Given the description of an element on the screen output the (x, y) to click on. 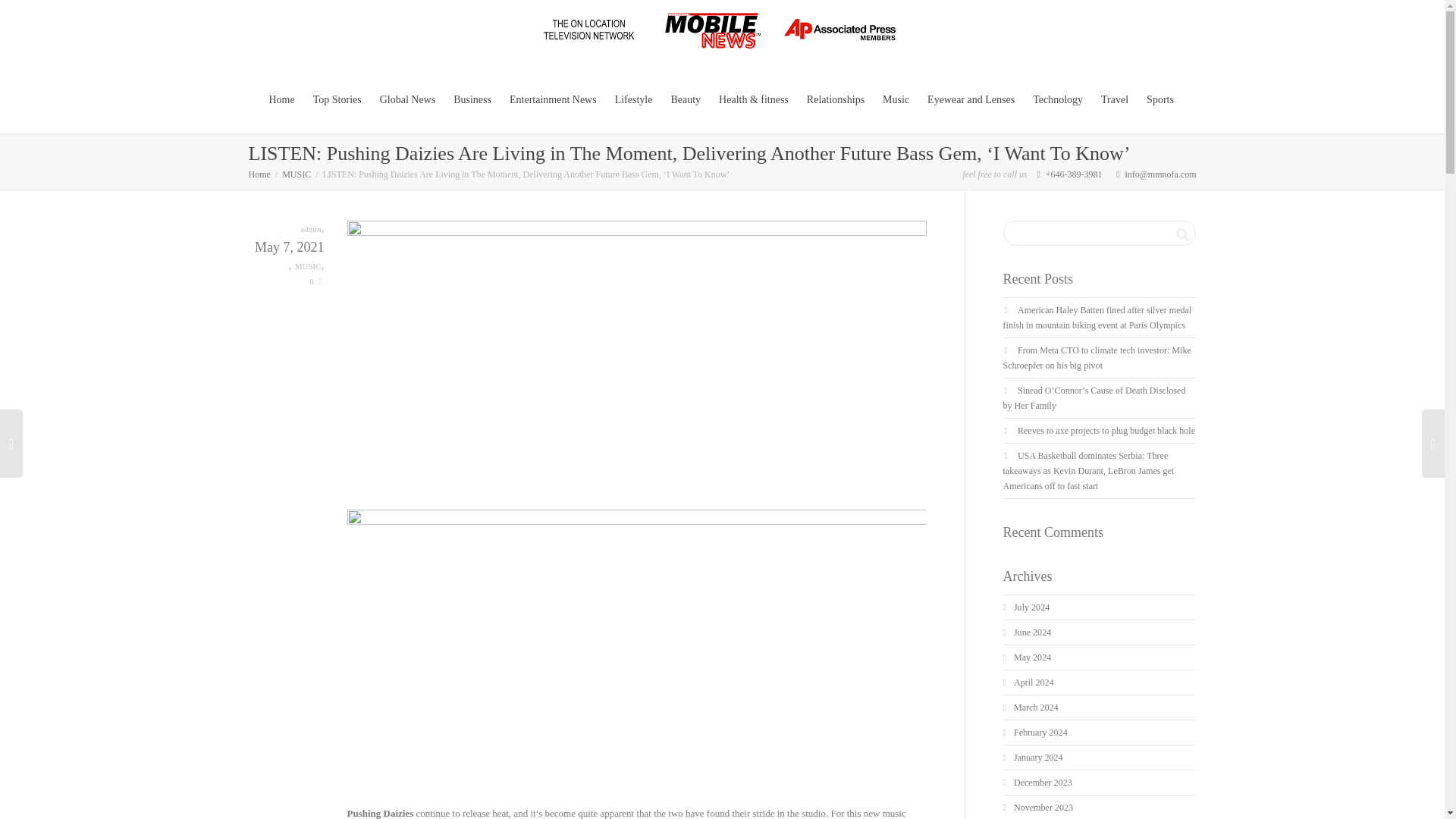
Home (259, 173)
May 7, 2021 (286, 248)
Eyewear and Lenses (970, 99)
Mnnofa (721, 32)
Entertainment News (552, 99)
Eyewear and Lenses (970, 99)
0 (315, 280)
MUSIC (308, 266)
Search (1181, 233)
admin (310, 228)
MUSIC (296, 173)
Search (1181, 233)
Entertainment News (552, 99)
